Given the description of an element on the screen output the (x, y) to click on. 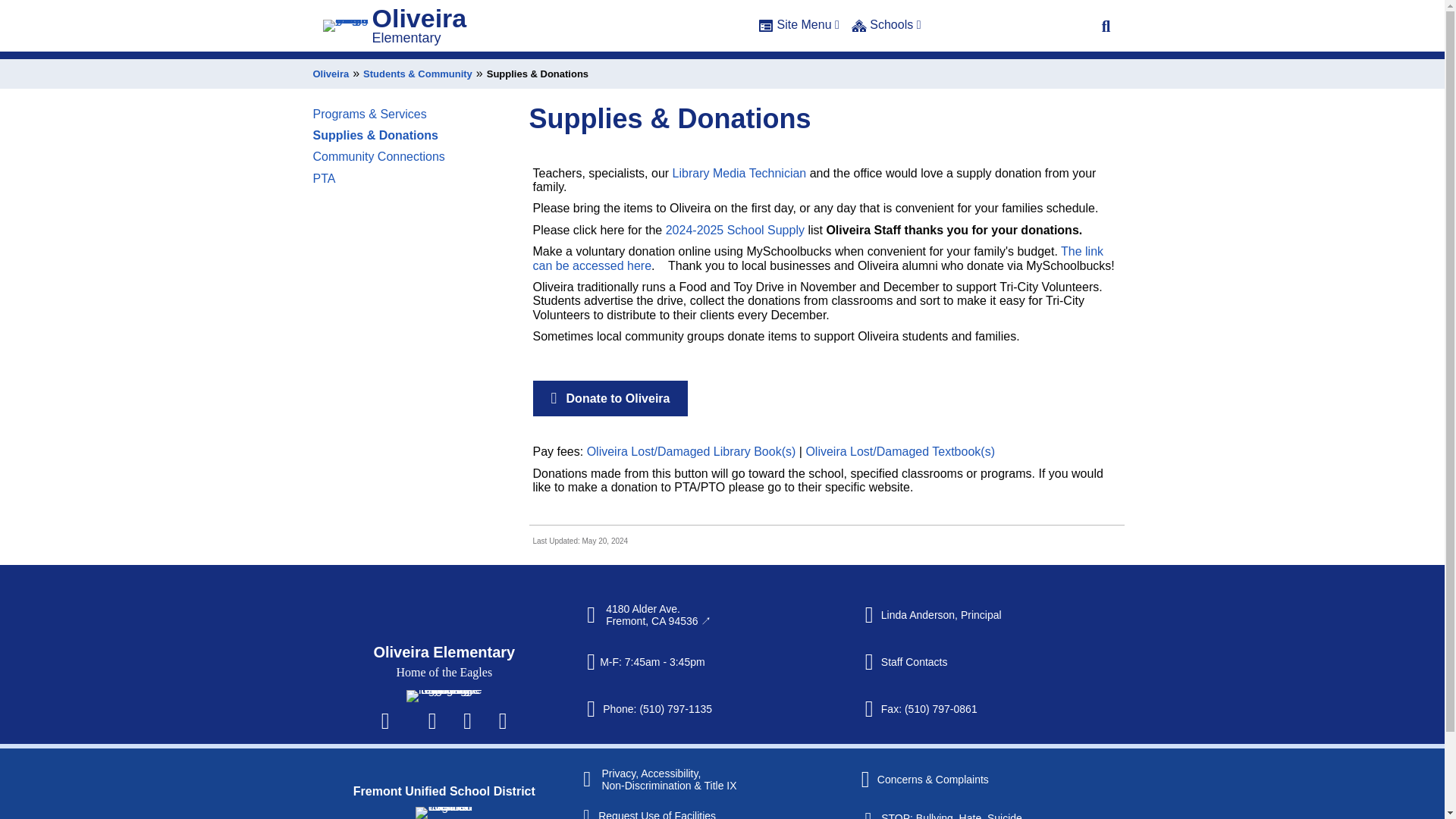
Site Menu (798, 27)
fusd-logo (442, 812)
Schools (886, 27)
Oliveira Elementary (443, 651)
Peachjar (502, 721)
Click Here (1105, 25)
Elementary (406, 37)
oliveira (443, 695)
Oliveira (418, 18)
oliveira (345, 25)
Elementary (406, 37)
